Given the description of an element on the screen output the (x, y) to click on. 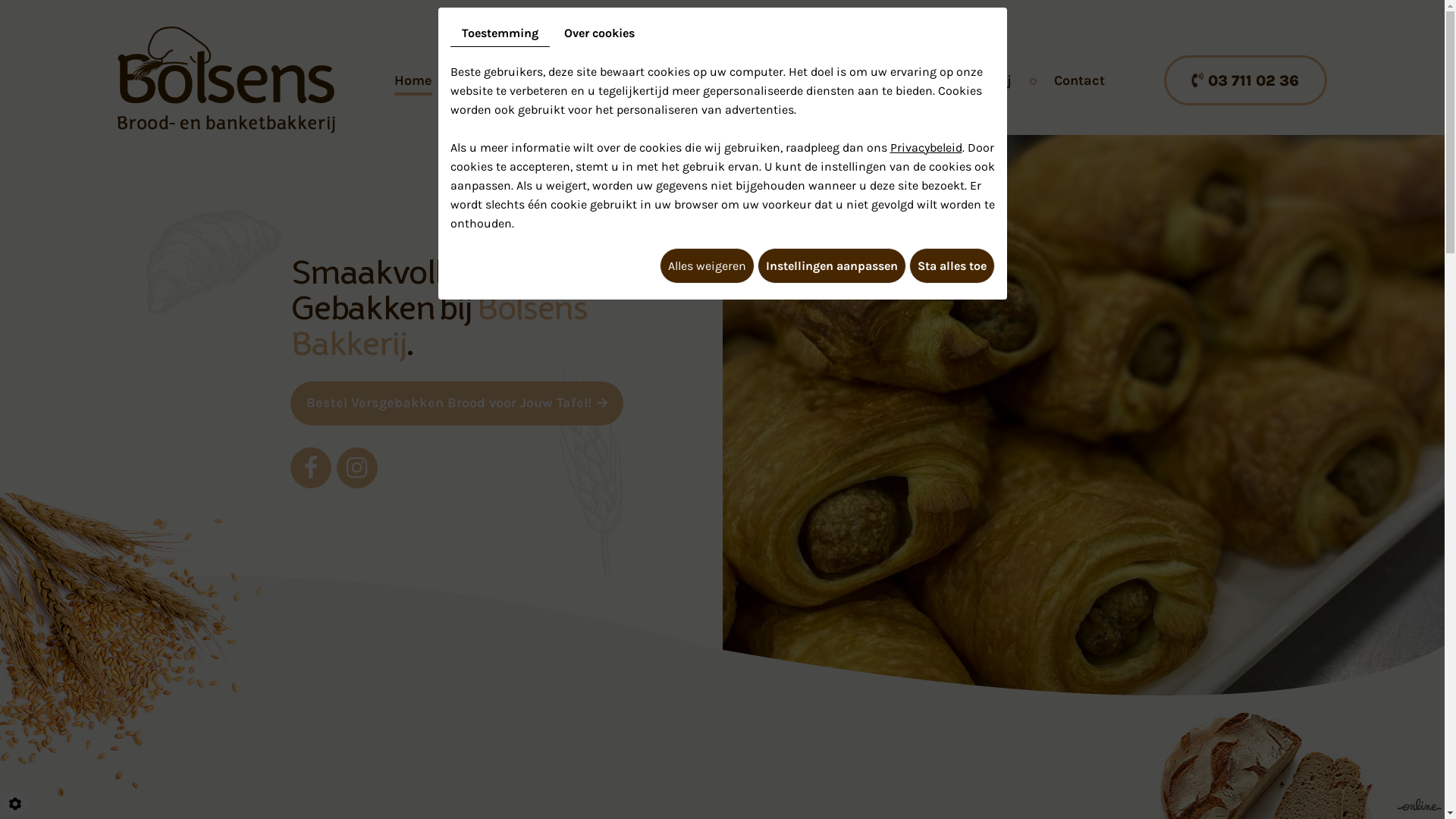
Toestemming Element type: text (499, 33)
Alles weigeren Element type: text (706, 265)
Assortiment Element type: text (514, 80)
Bakkerij Bolsens - Bakkerij Element type: hover (226, 78)
Nieuws Element type: text (902, 80)
Contact Element type: text (1079, 80)
Instellingen aanpassen Element type: text (830, 265)
Broodautomaten Element type: text (651, 80)
Cookie-instelling bewerken Element type: text (14, 803)
Bestel Online Element type: text (792, 80)
Galerij Element type: text (989, 80)
Bestel Versgebakken Brood voor Jouw Tafel! Element type: text (455, 403)
Home Element type: text (412, 80)
Privacybeleid Element type: text (926, 147)
Sta alles toe Element type: text (951, 265)
Over cookies Element type: text (598, 32)
